Given the description of an element on the screen output the (x, y) to click on. 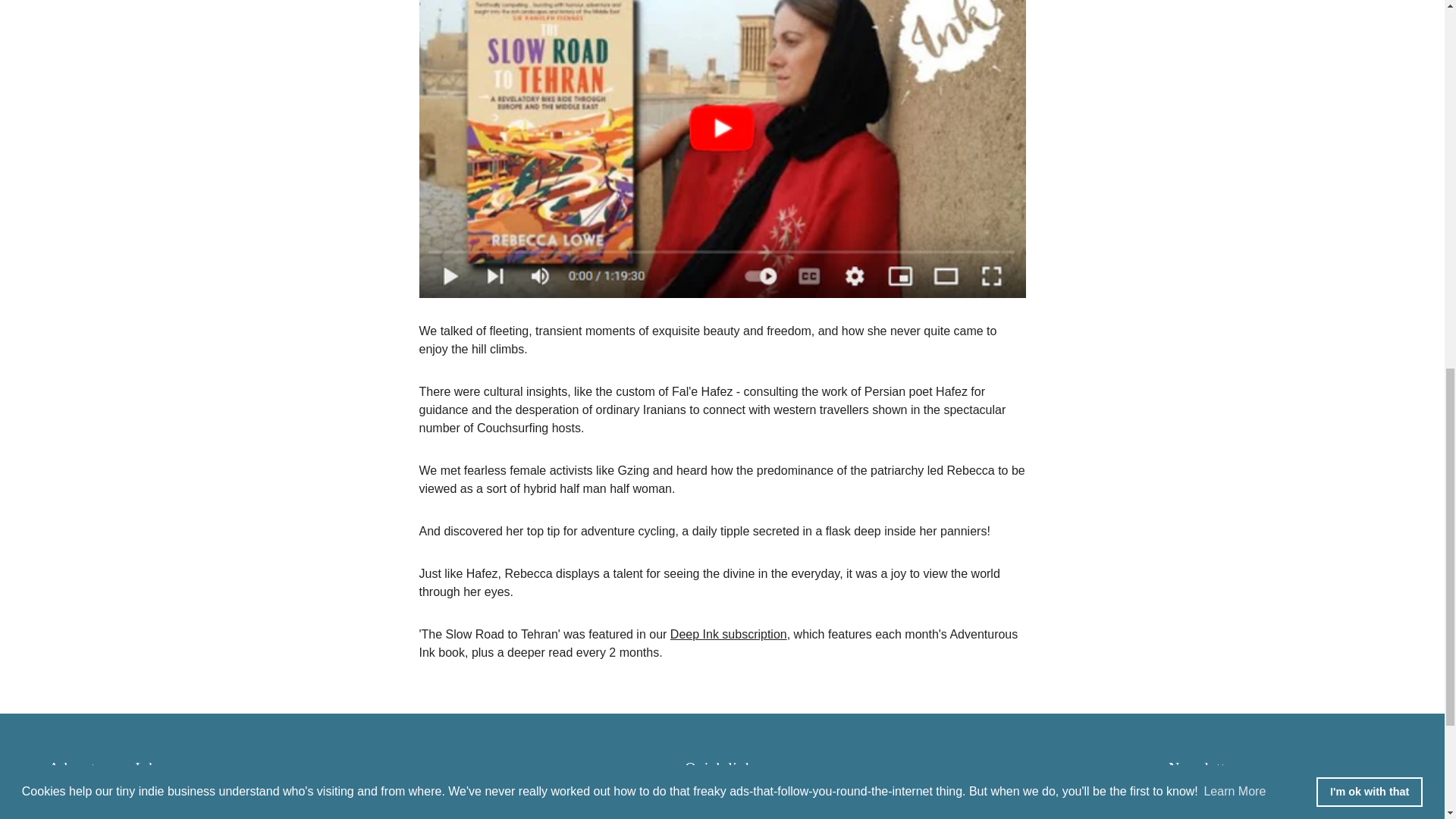
Manifesto (710, 813)
Search (703, 795)
Deep Ink subscription (728, 634)
Search (703, 795)
Discover Deep Ink (728, 634)
Manifesto (710, 813)
